Given the description of an element on the screen output the (x, y) to click on. 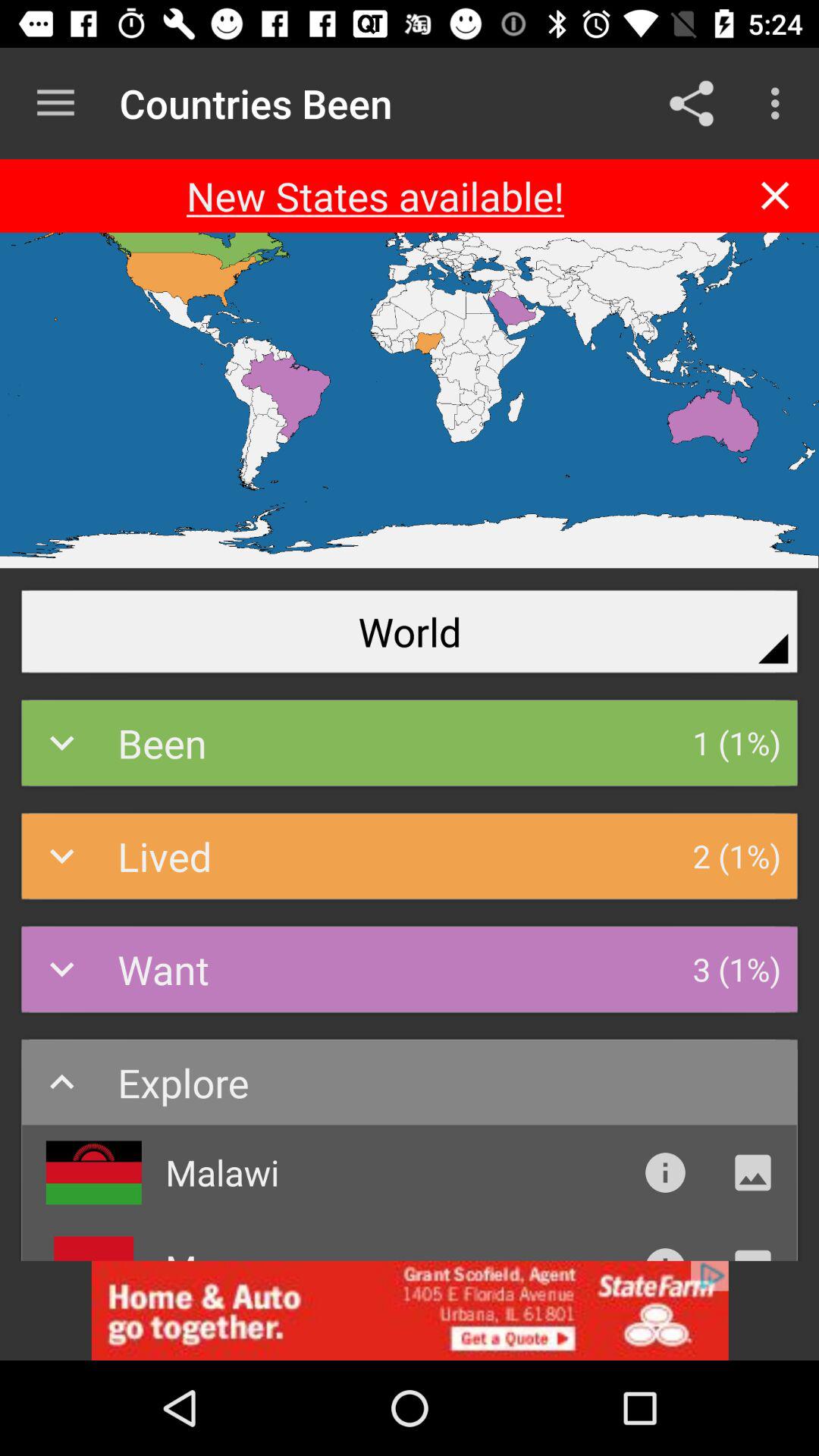
advertisement for state farm (409, 1310)
